Given the description of an element on the screen output the (x, y) to click on. 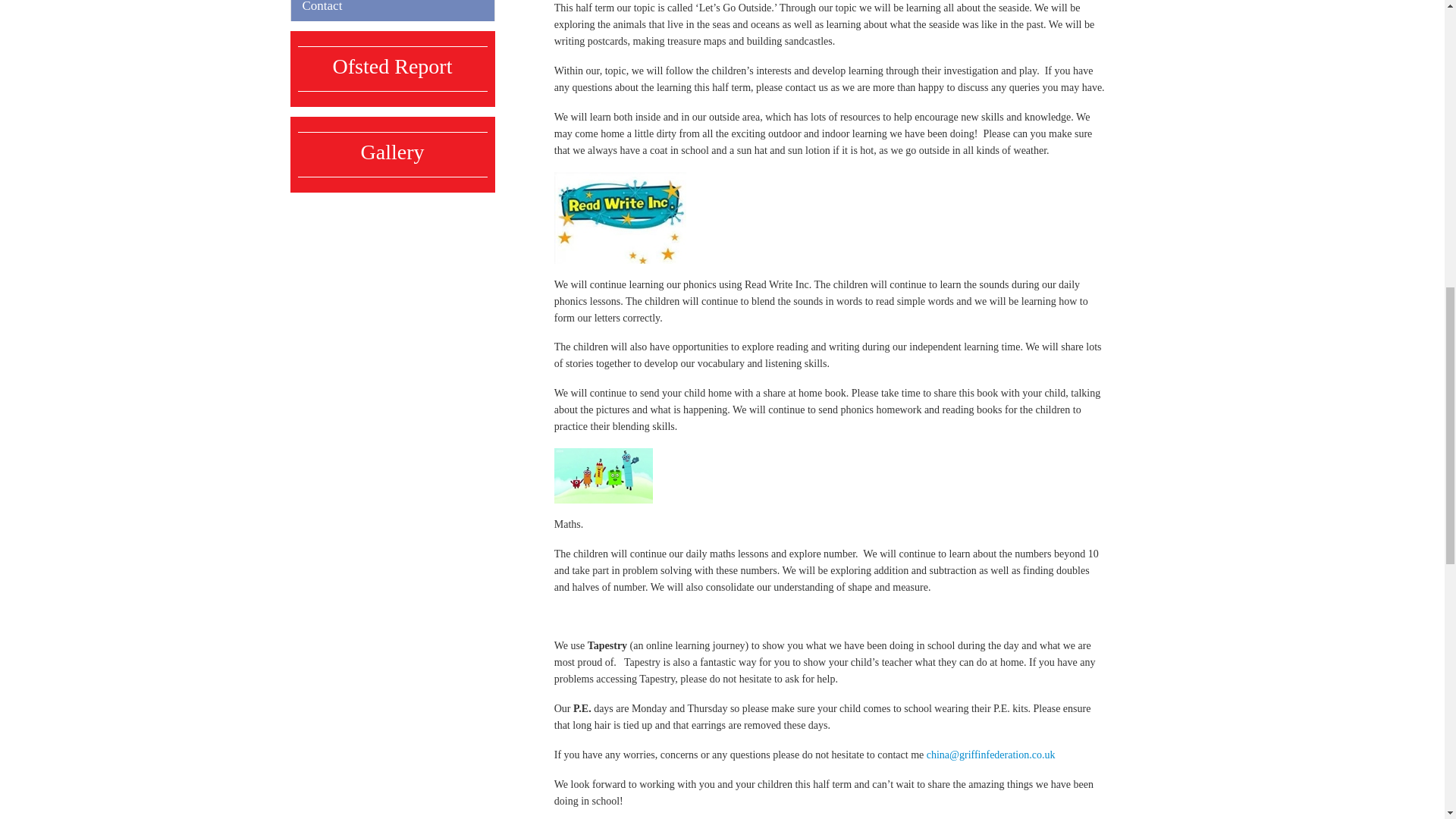
Ofsted Report (392, 65)
Gallery (393, 151)
Contact (392, 10)
